Given the description of an element on the screen output the (x, y) to click on. 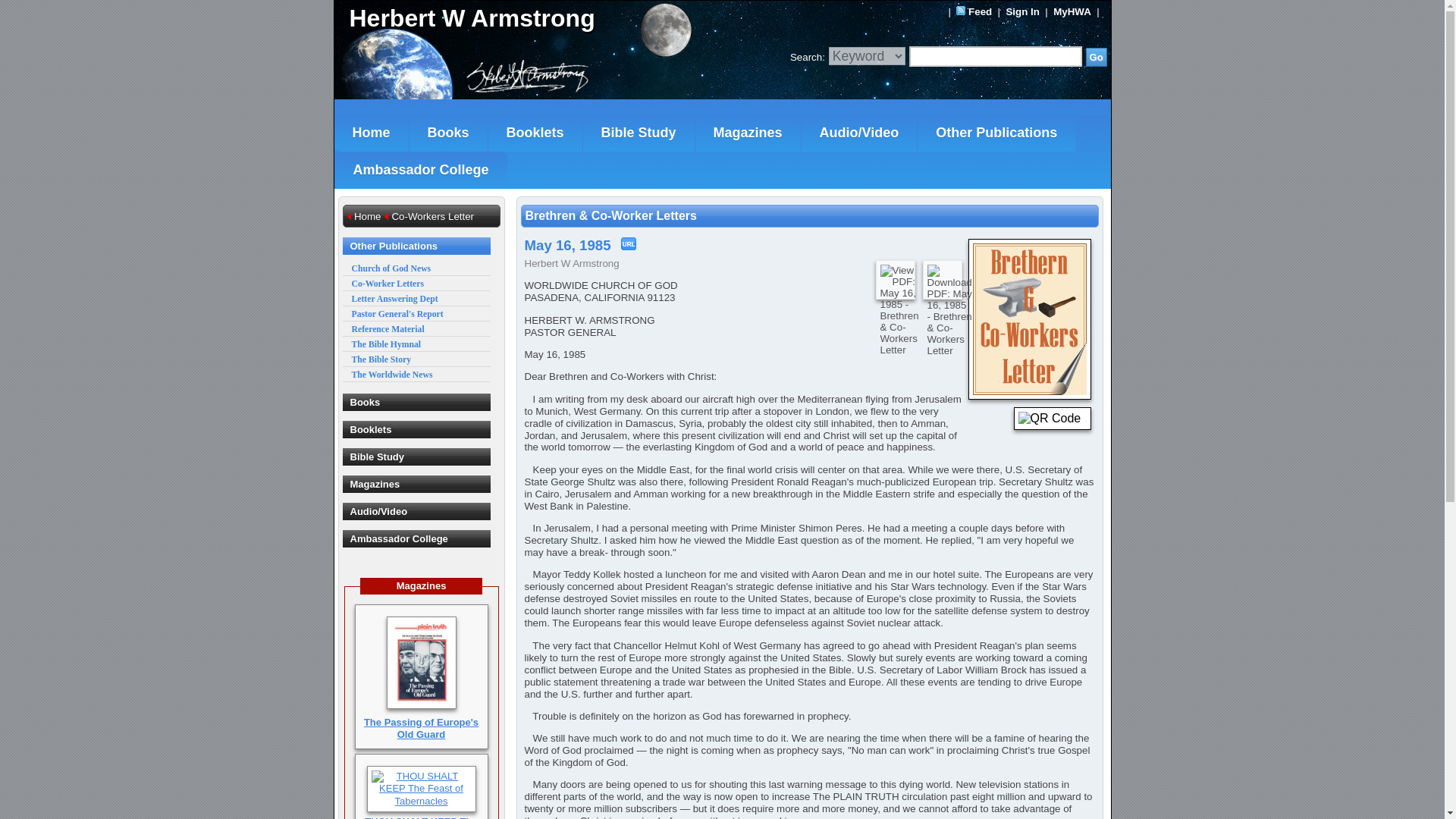
Herbert W Armstrong Library (528, 18)
Go (1096, 56)
Other Publications (996, 132)
Books (448, 132)
Click down arrow to see all 3 search options. (866, 55)
Magazines (747, 132)
Feed (979, 11)
MyHWA (1071, 11)
